Given the description of an element on the screen output the (x, y) to click on. 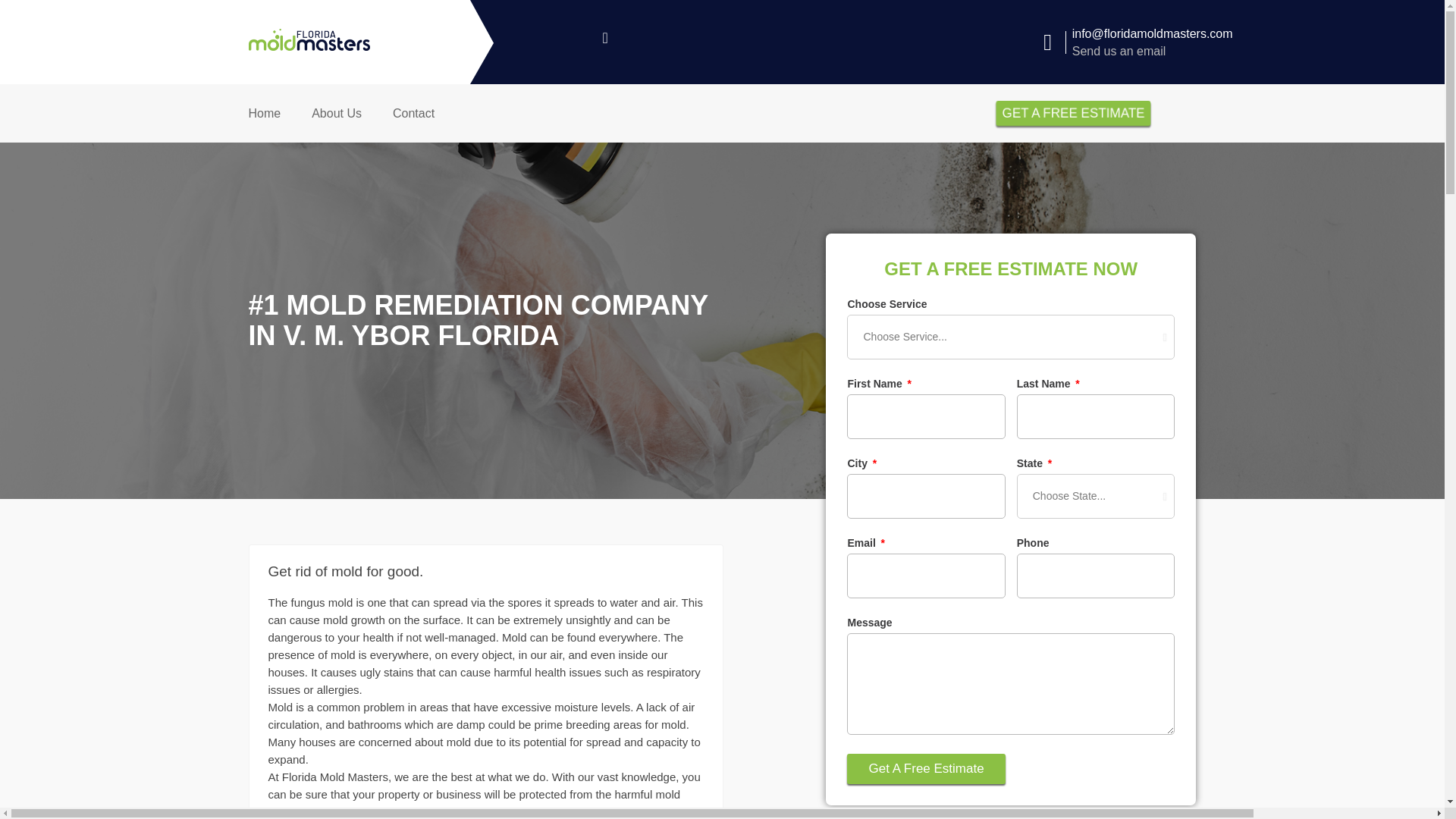
About Us (336, 113)
Get A Free Estimate (925, 768)
Home (264, 113)
Contact (413, 113)
GET A FREE ESTIMATE (1069, 113)
